Given the description of an element on the screen output the (x, y) to click on. 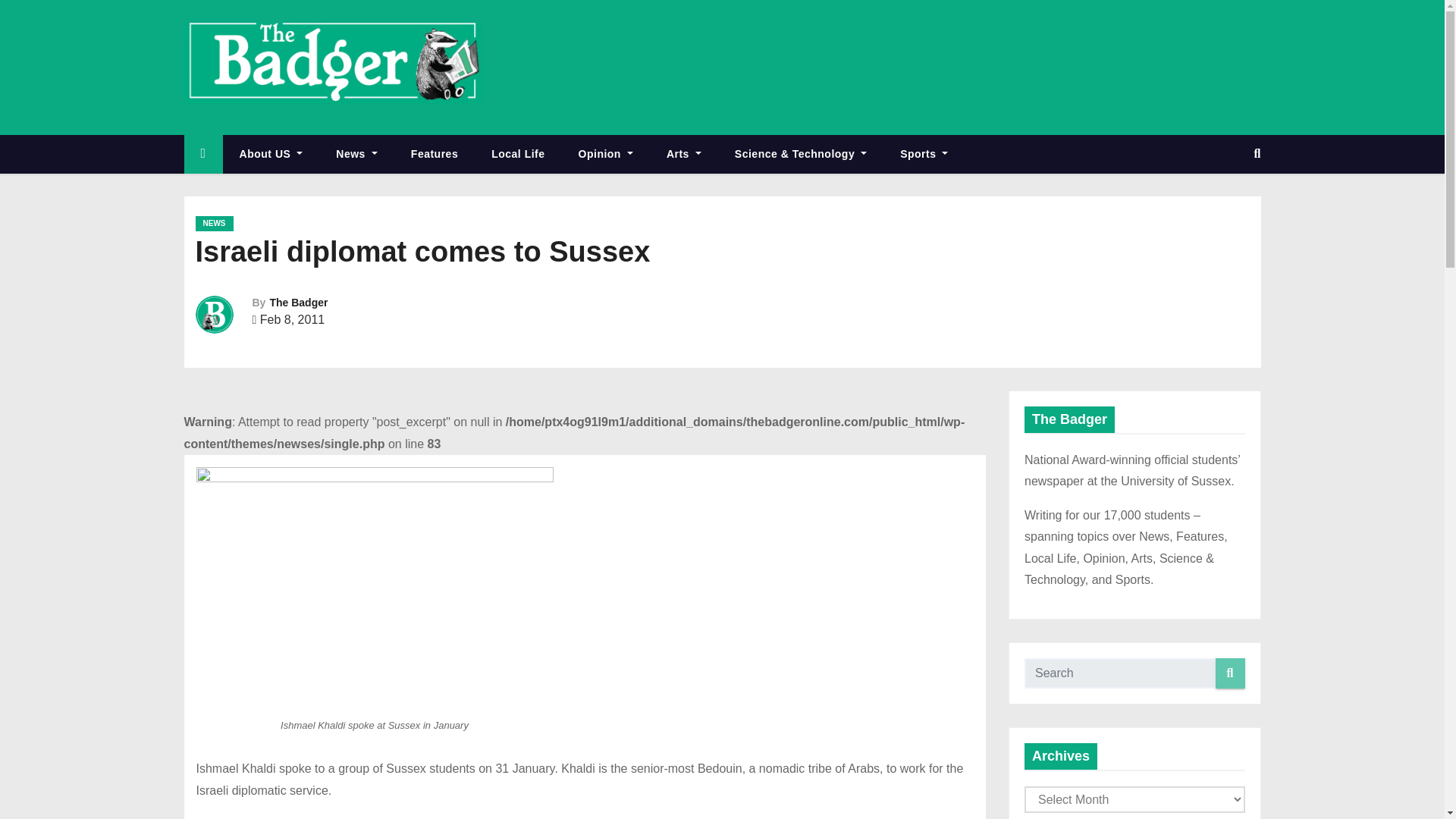
Sports (923, 154)
Arts (683, 154)
Home (202, 154)
News (356, 154)
Opinion (605, 154)
News (356, 154)
Local Life (517, 154)
Features (434, 154)
About US (271, 154)
Features (434, 154)
About US (271, 154)
NEWS (213, 223)
Local Life (517, 154)
The Badger (298, 302)
Opinion (605, 154)
